Given the description of an element on the screen output the (x, y) to click on. 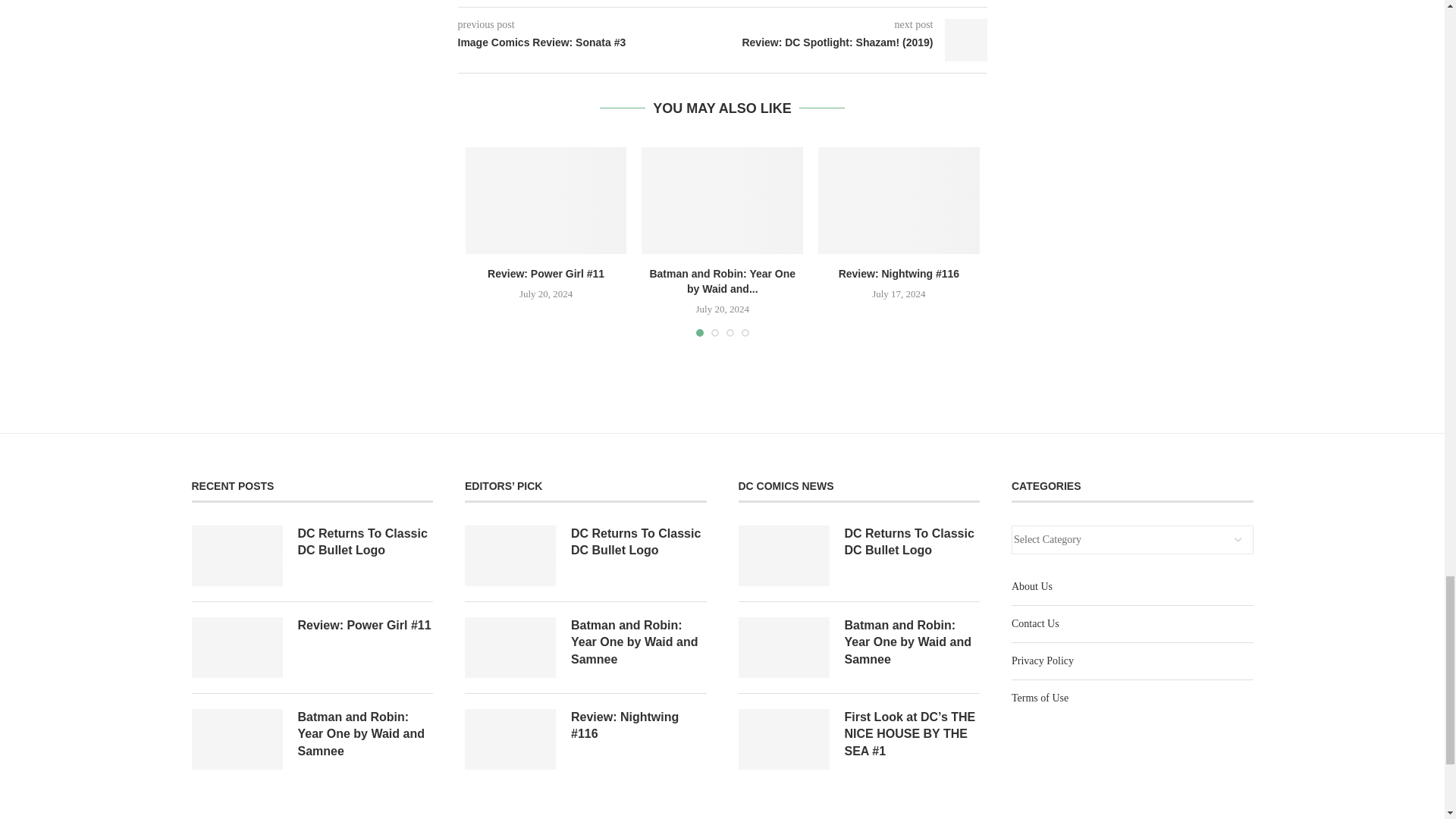
Batman and Robin: Year One by Waid and Samnee (722, 200)
